Given the description of an element on the screen output the (x, y) to click on. 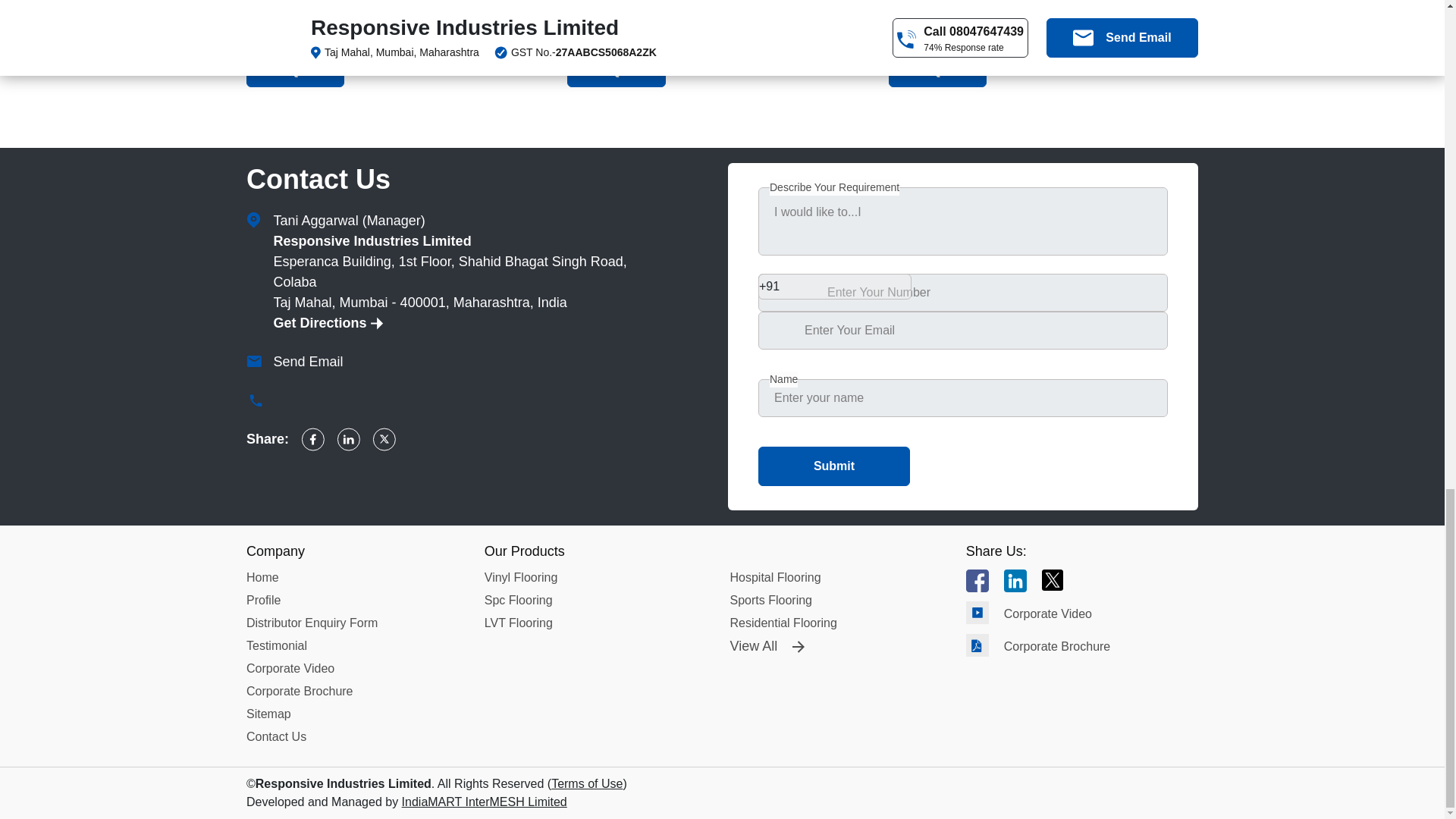
Submit (834, 466)
